Given the description of an element on the screen output the (x, y) to click on. 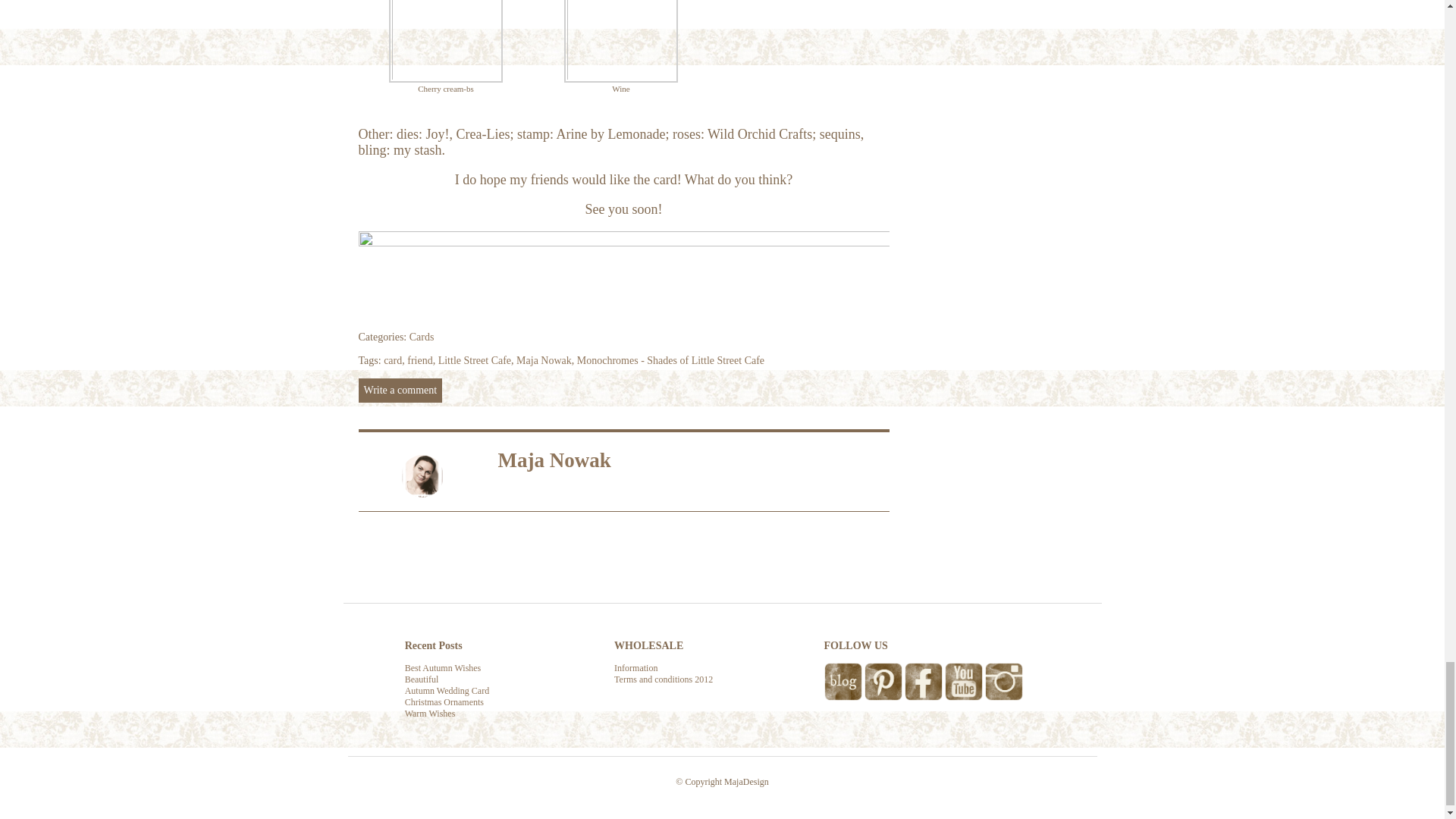
friend (419, 360)
Comment (400, 390)
Maja Nowak (553, 459)
Write a comment (400, 390)
Little Street Cafe (474, 360)
card (392, 360)
Monochromes - Shades of Little Street Cafe (670, 360)
Cards (421, 337)
Maja Nowak (544, 360)
